Given the description of an element on the screen output the (x, y) to click on. 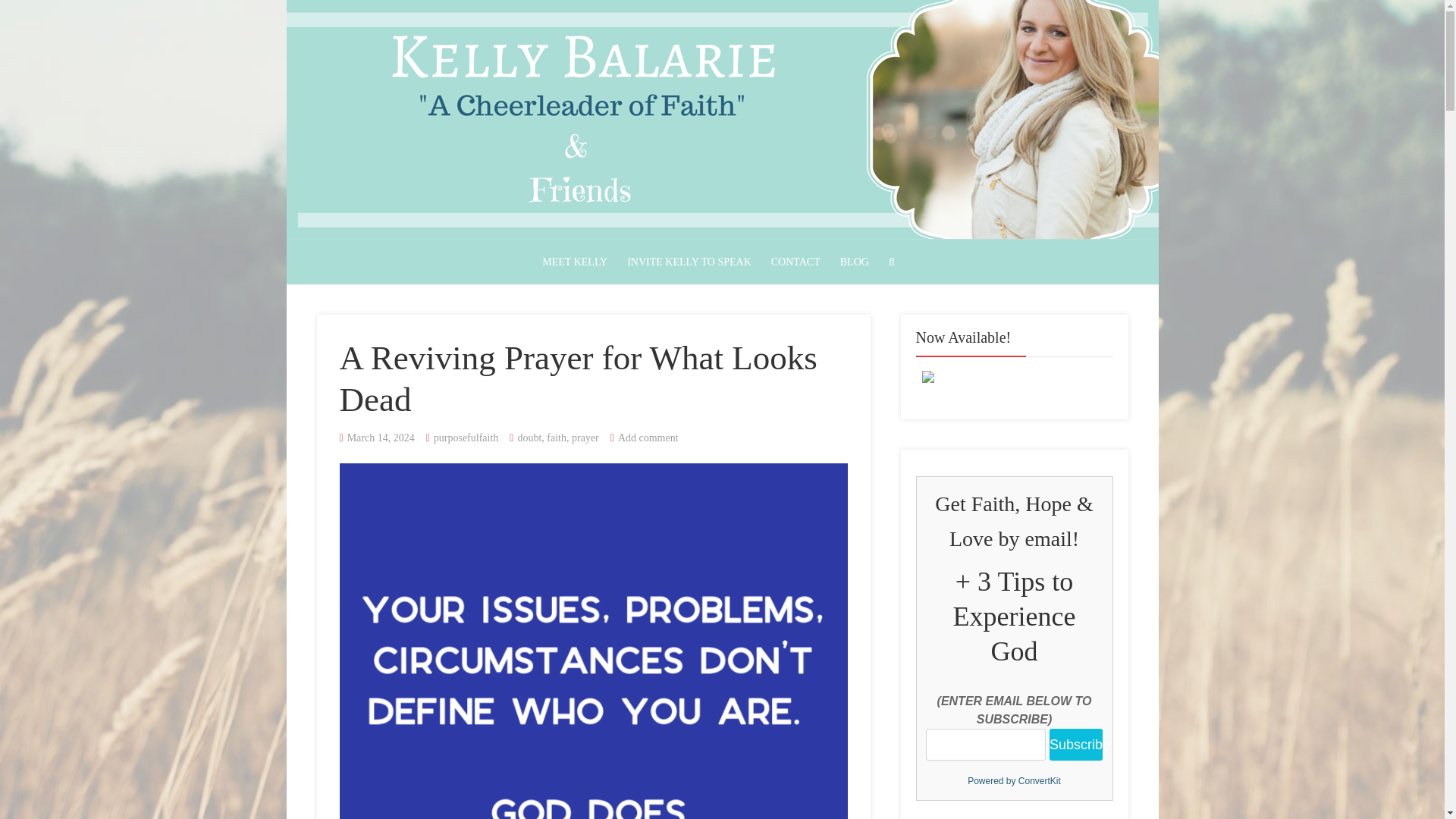
CONTACT (795, 262)
purposefulfaith (466, 437)
Subscribe (1075, 744)
doubt (528, 437)
MEET KELLY (575, 262)
prayer (585, 437)
INVITE KELLY TO SPEAK (689, 262)
Powered by ConvertKit (1014, 781)
Add comment (647, 437)
faith (556, 437)
